Given the description of an element on the screen output the (x, y) to click on. 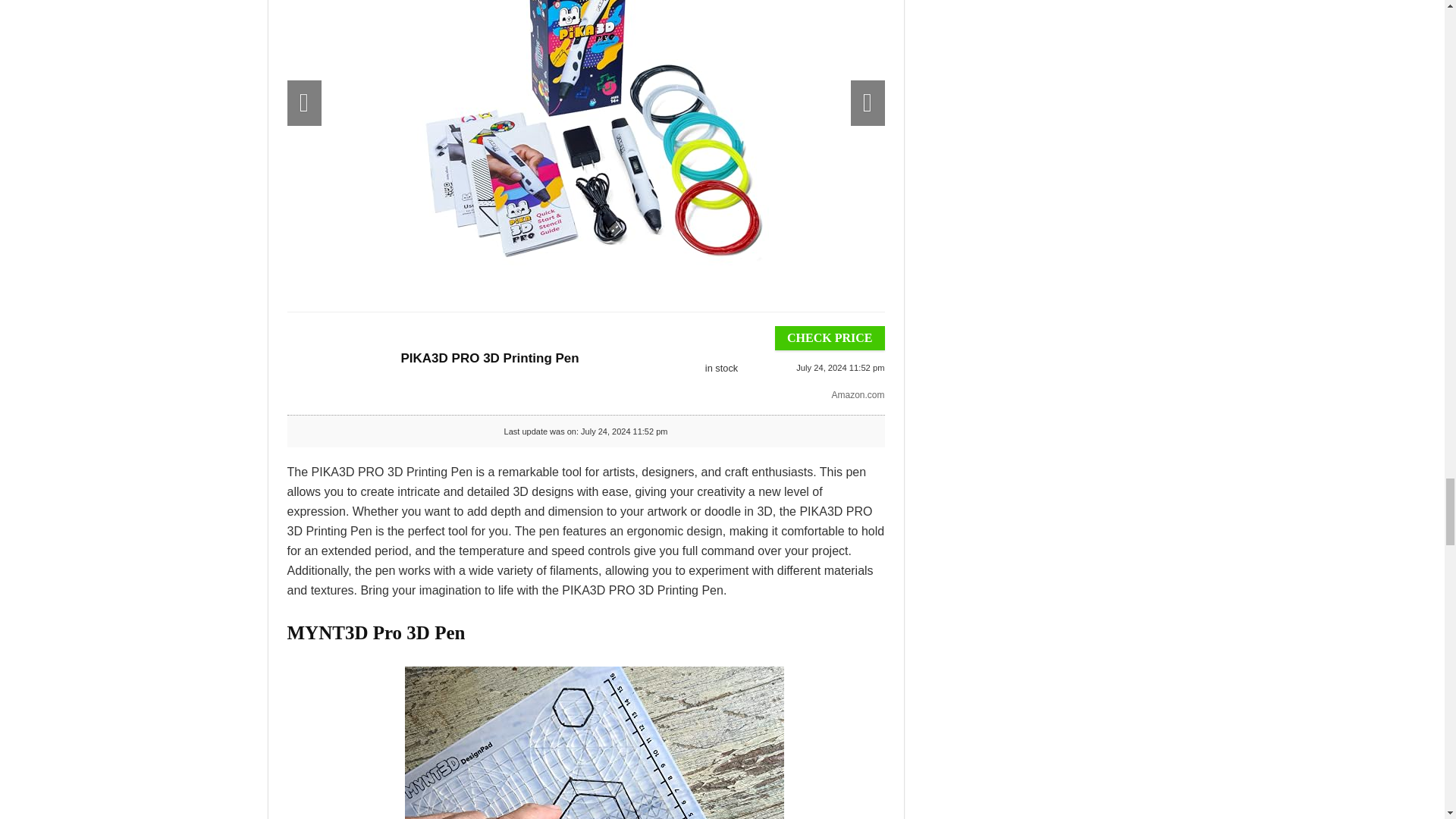
Last update was in: July 24, 2024 11:52 pm (720, 368)
